Given the description of an element on the screen output the (x, y) to click on. 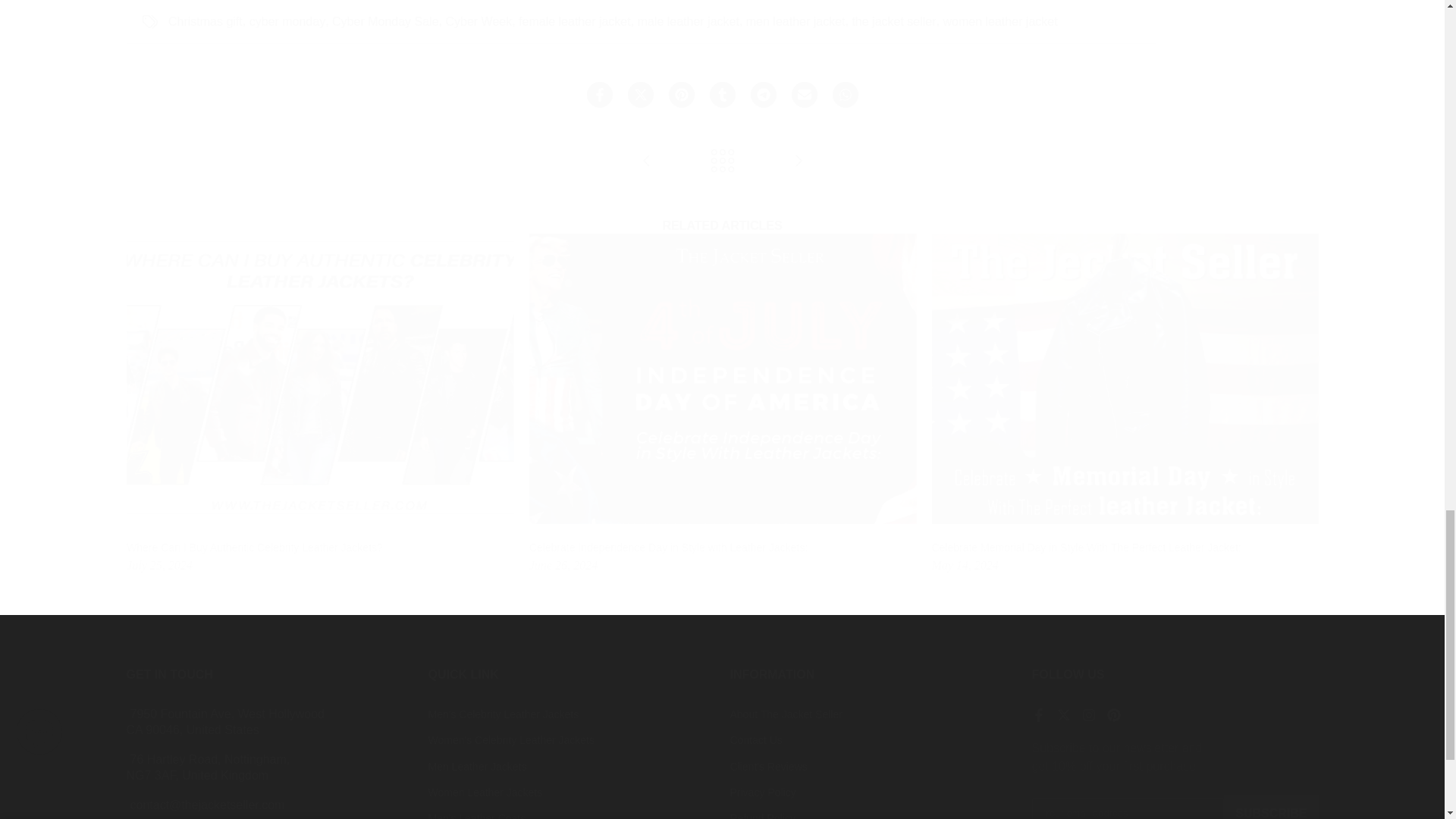
Share on Pinterest (681, 94)
Share on Tumblr (722, 94)
Share on Email (804, 94)
Share on Facebook (599, 94)
Share on Telegram (763, 94)
Share on WhatsApp (845, 94)
Share on Twitter (640, 94)
